Given the description of an element on the screen output the (x, y) to click on. 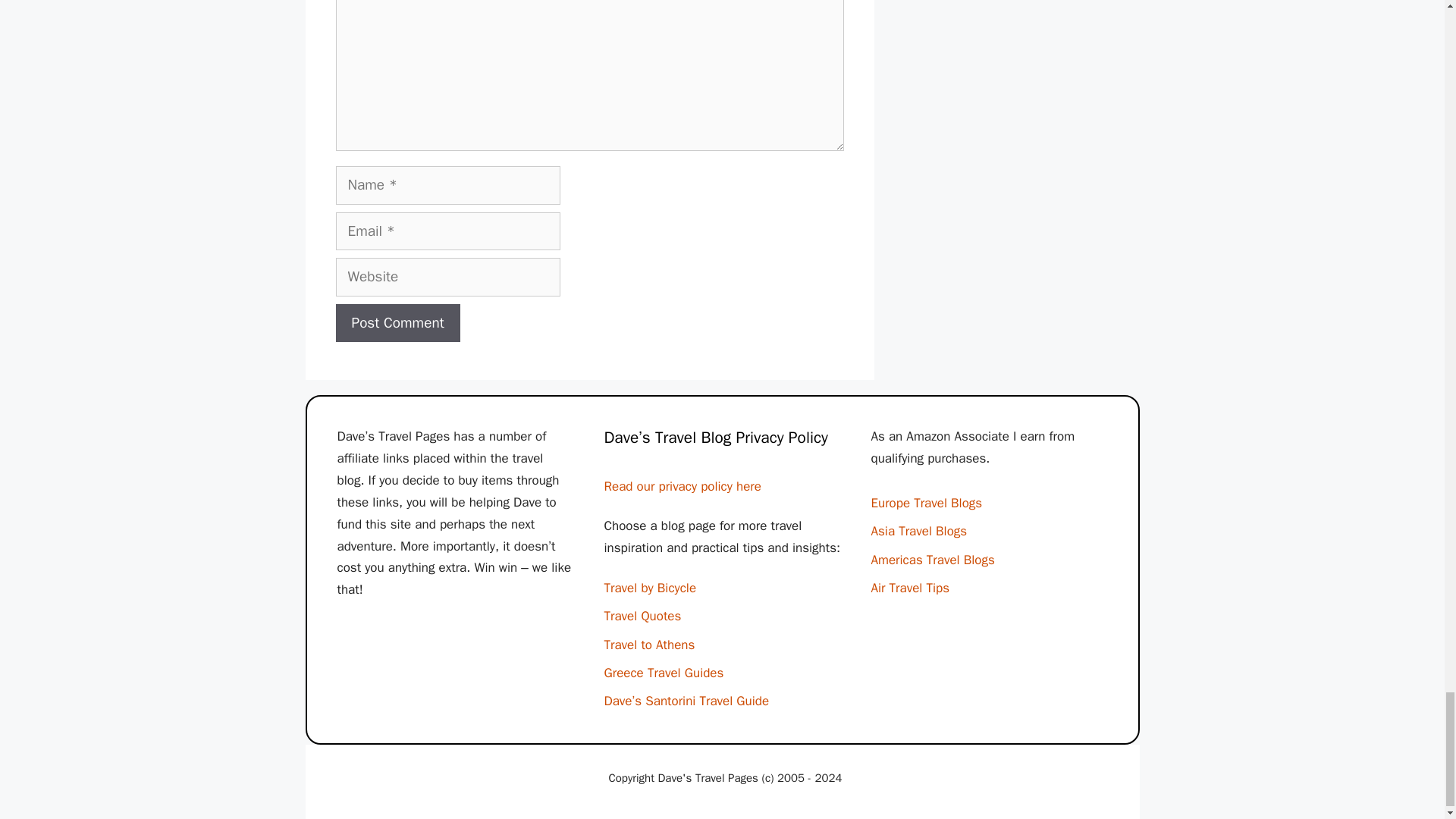
Post Comment (397, 323)
Post Comment (397, 323)
